Given the description of an element on the screen output the (x, y) to click on. 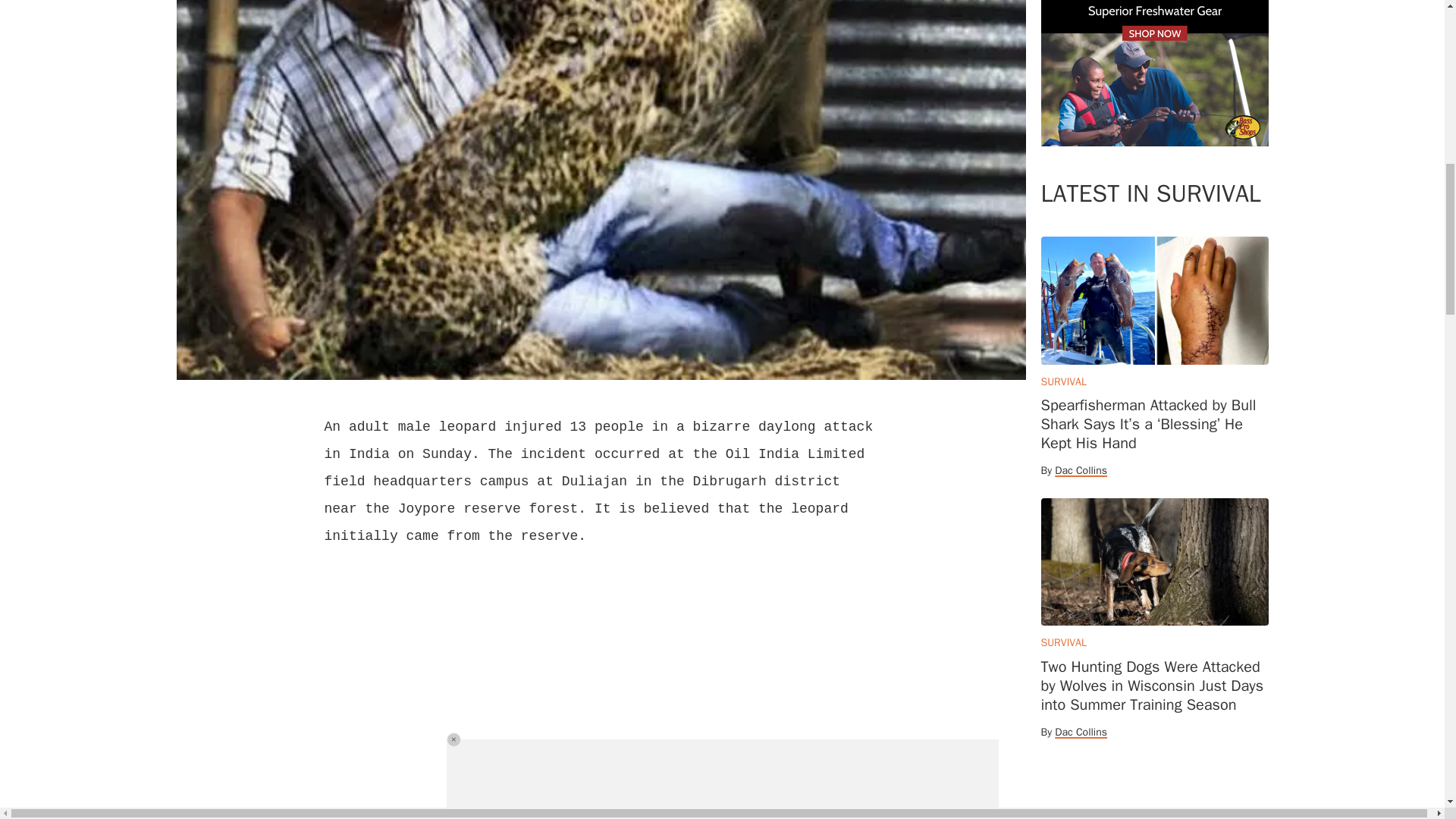
3rd party ad content (600, 703)
3rd party ad content (1154, 73)
3rd party ad content (1154, 802)
